Given the description of an element on the screen output the (x, y) to click on. 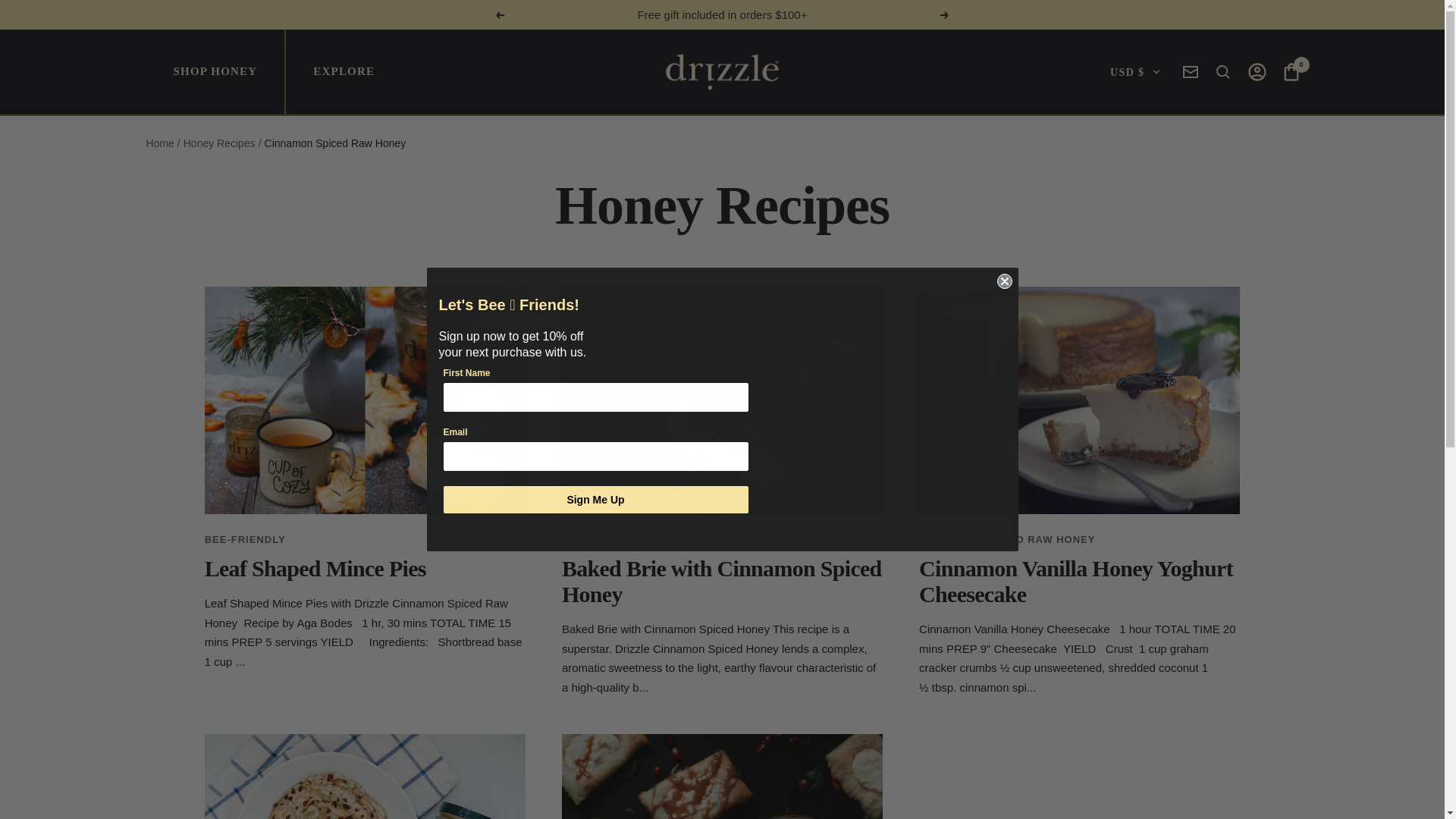
Honey Recipes (219, 143)
EXPLORE (343, 71)
APPETIZER (593, 539)
Next (944, 14)
0 (1290, 75)
Previous (499, 14)
BEE-FRIENDLY (245, 539)
Cinnamon Vanilla Honey Yoghurt Cheesecake (1075, 581)
Baked Brie with Cinnamon Spiced Honey (722, 581)
SHOP HONEY (215, 71)
Leaf Shaped Mince Pies (315, 568)
Newsletter (1190, 71)
CA (1087, 125)
Home (159, 143)
US (1087, 151)
